Given the description of an element on the screen output the (x, y) to click on. 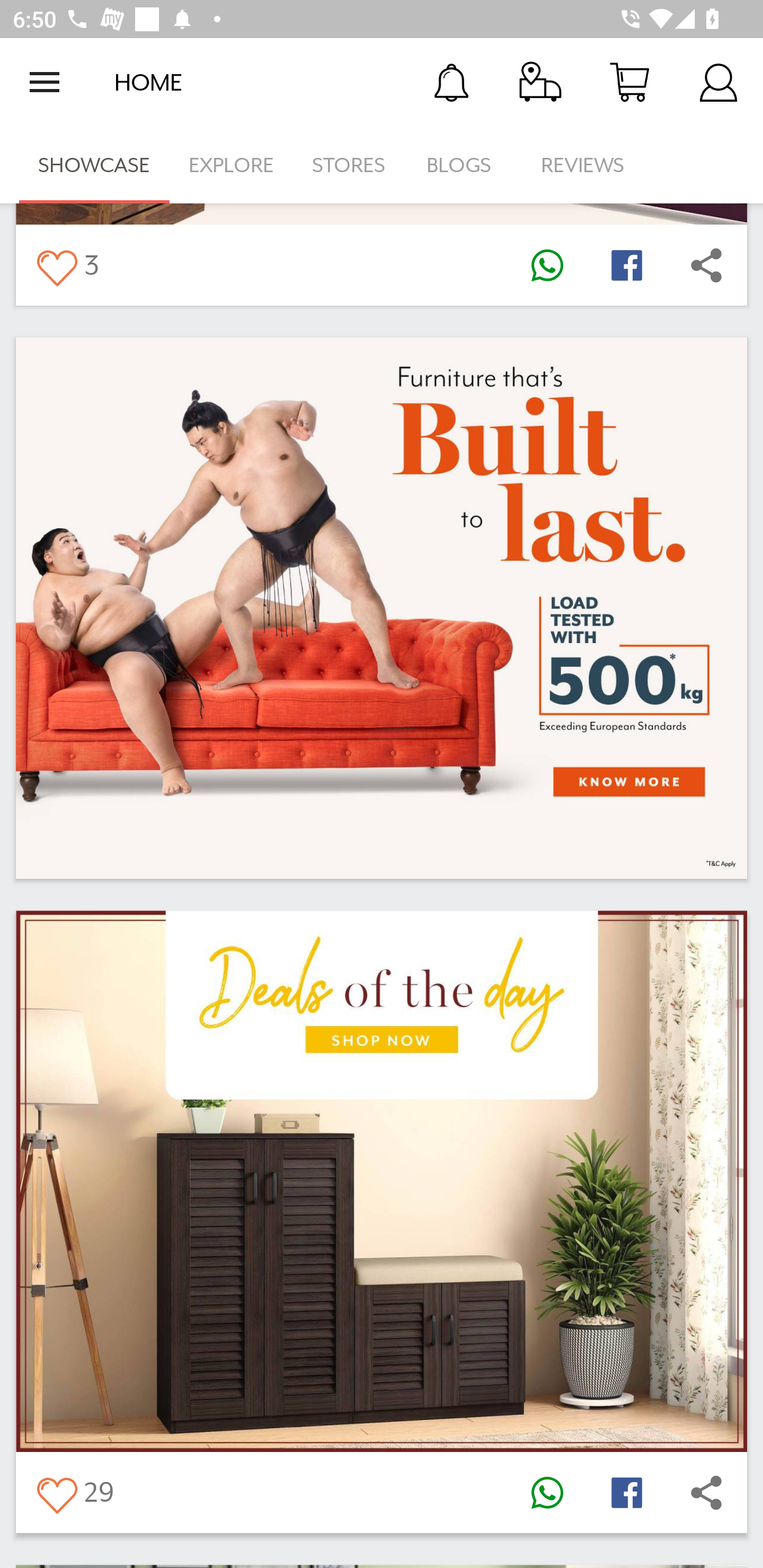
Open navigation drawer (44, 82)
Notification (450, 81)
Track Order (540, 81)
Cart (629, 81)
Account Details (718, 81)
SHOWCASE (94, 165)
EXPLORE (230, 165)
STORES (349, 165)
BLOGS (464, 165)
REVIEWS (582, 165)
 (55, 264)
 (547, 264)
 (626, 264)
 (706, 264)
 (55, 1492)
 (547, 1492)
 (626, 1492)
 (706, 1492)
